Given the description of an element on the screen output the (x, y) to click on. 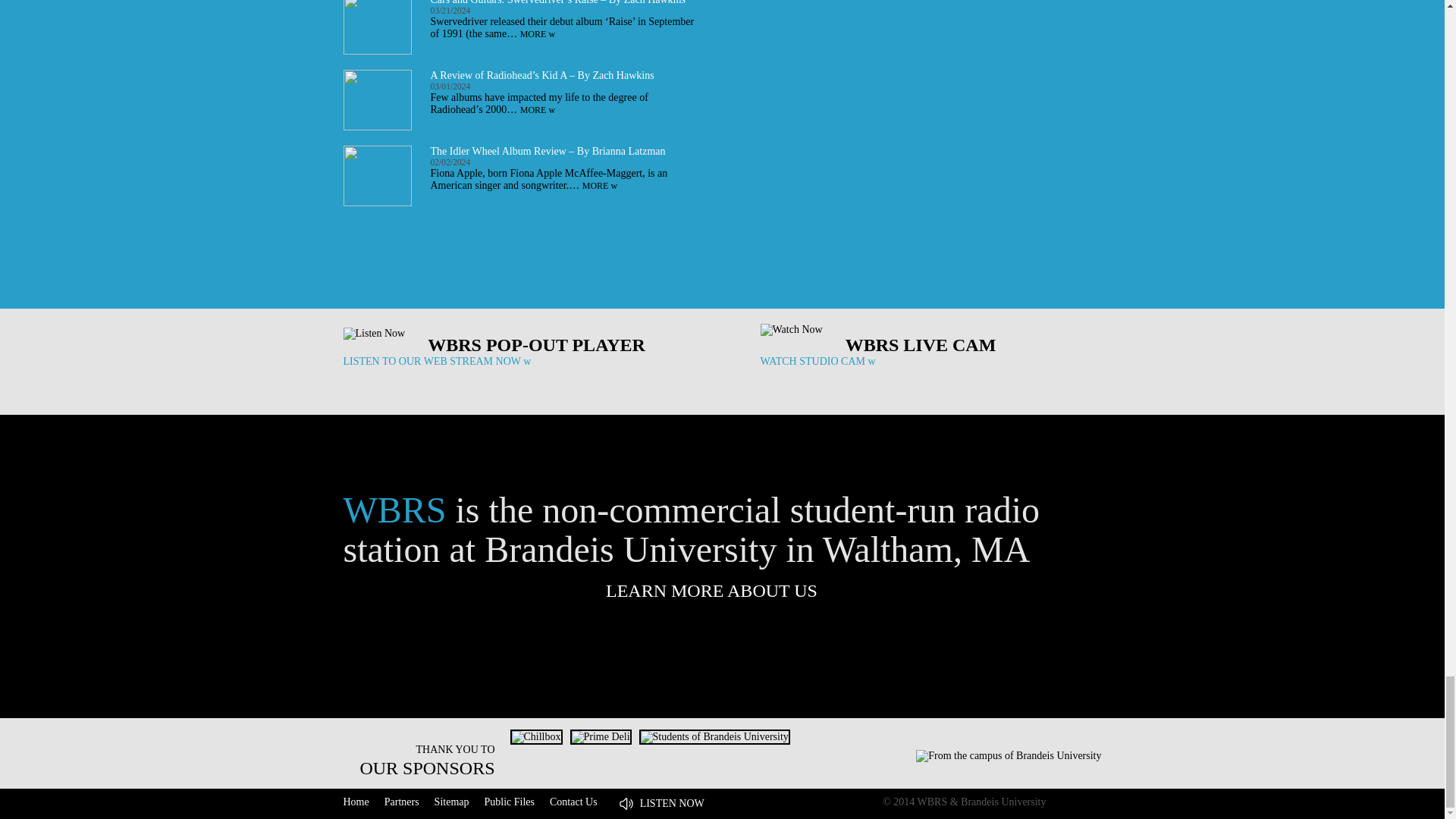
LISTEN TO OUR WEB STREAM NOW w (436, 360)
MORE w (536, 33)
Partners (401, 801)
WBRS LIVE CAM (920, 344)
LEARN MORE ABOUT US (721, 590)
Sitemap (450, 801)
MORE w (599, 185)
Public Files (508, 801)
Home (355, 801)
WBRS POP-OUT PLAYER (536, 344)
WATCH STUDIO CAM w (817, 360)
MORE w (536, 109)
